Given the description of an element on the screen output the (x, y) to click on. 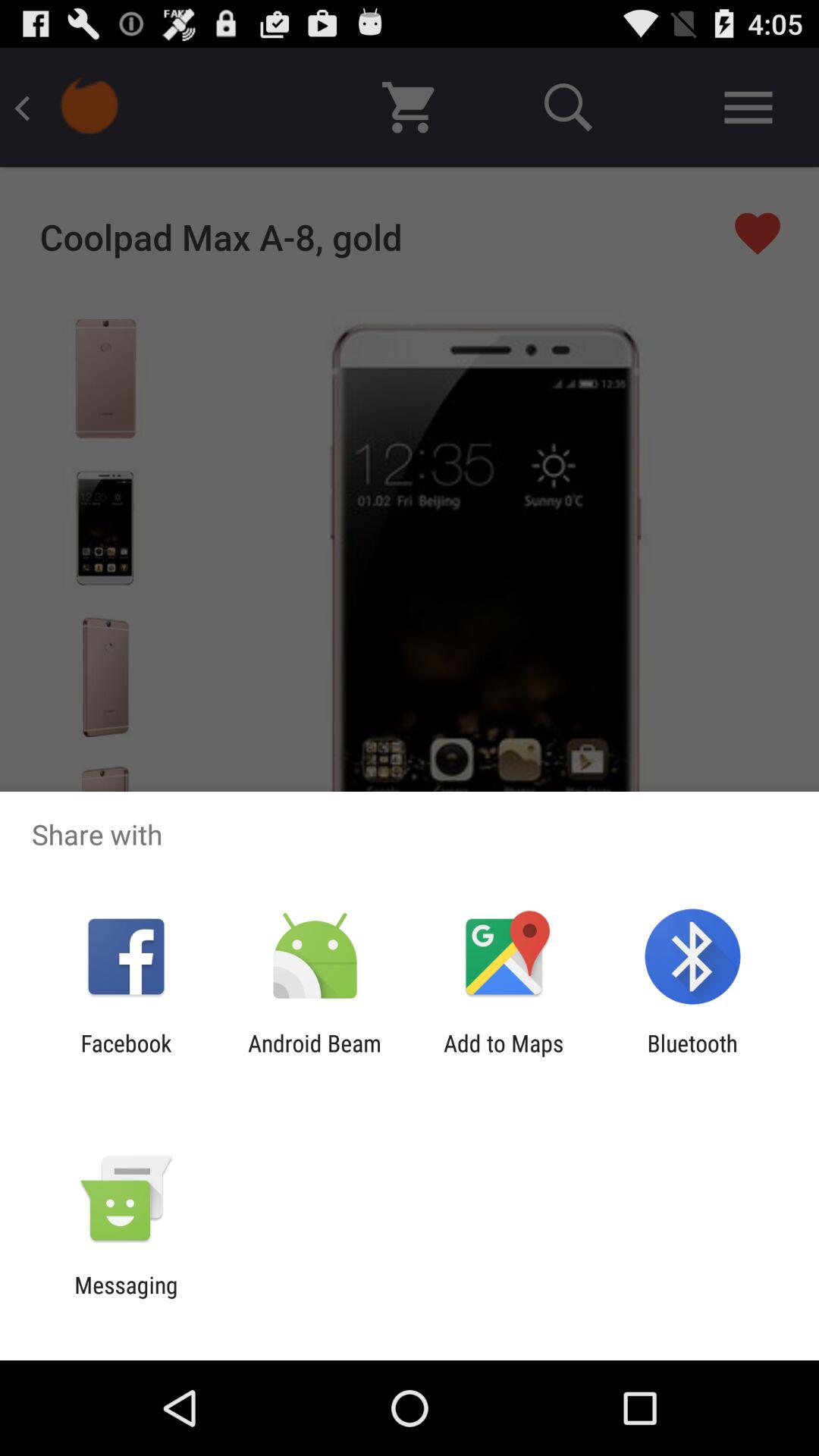
flip to the android beam item (314, 1056)
